Given the description of an element on the screen output the (x, y) to click on. 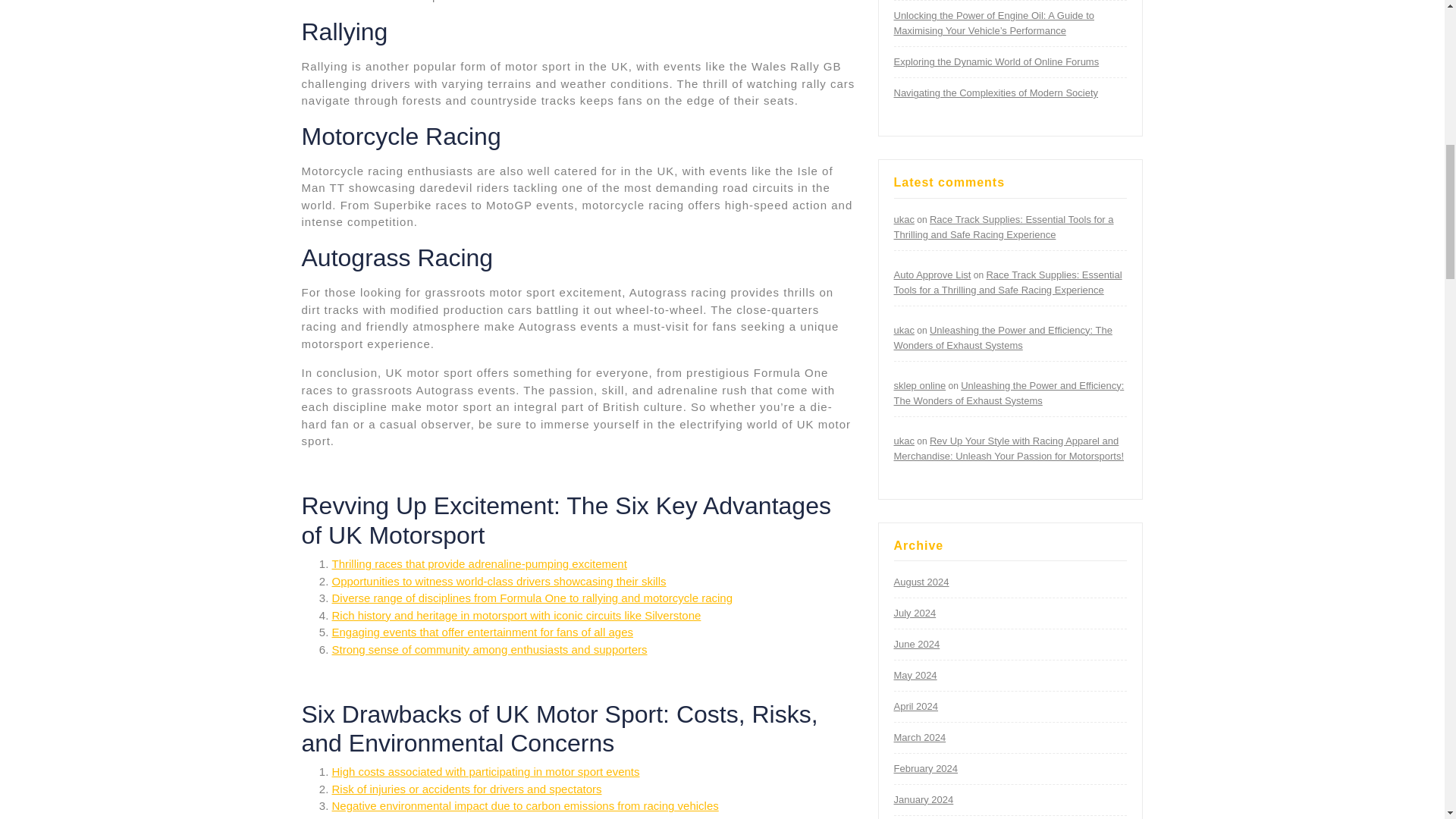
Strong sense of community among enthusiasts and supporters (489, 649)
Risk of injuries or accidents for drivers and spectators (466, 788)
Thrilling races that provide adrenaline-pumping excitement (479, 563)
